Given the description of an element on the screen output the (x, y) to click on. 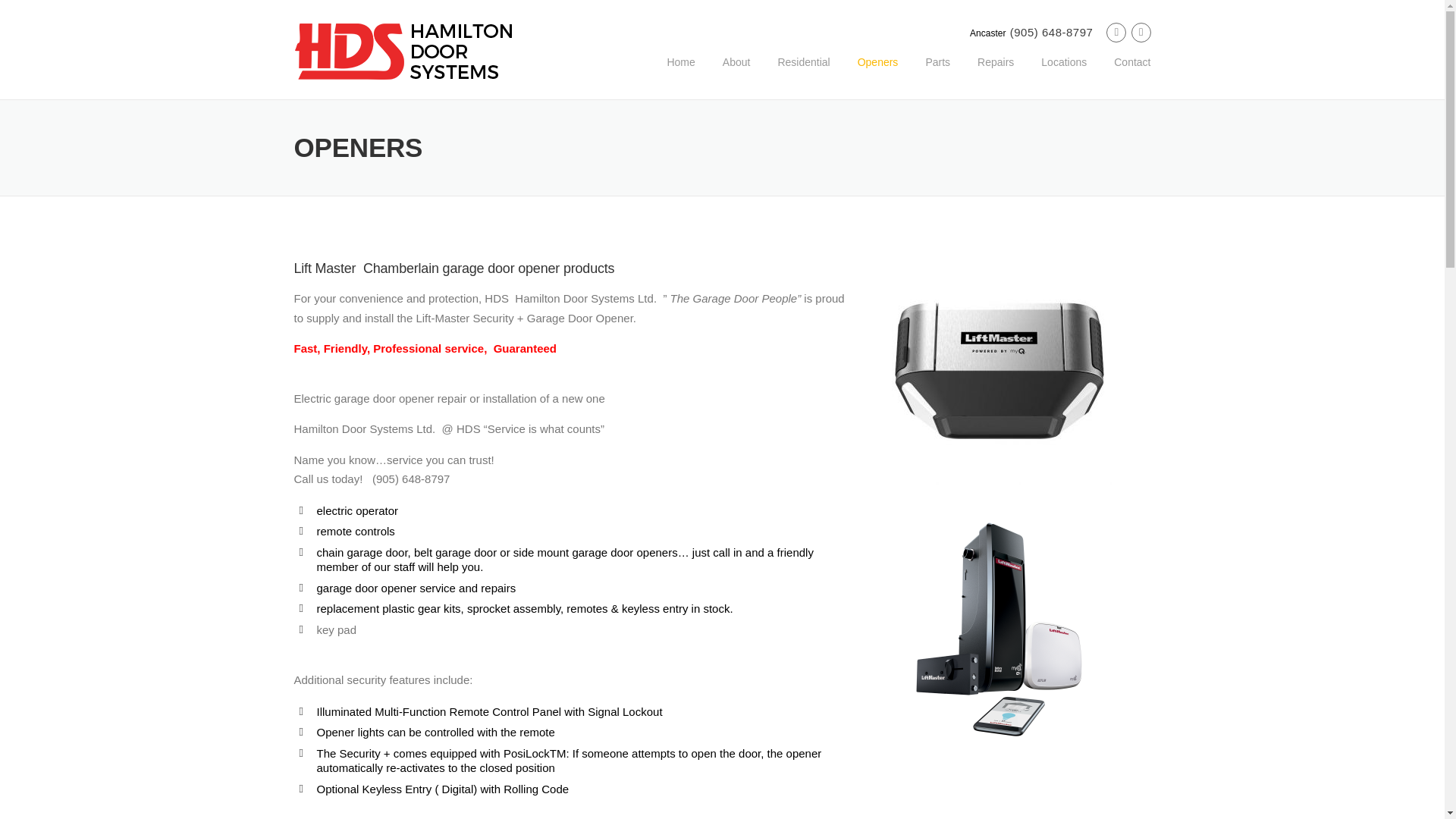
Facebook (1115, 32)
Openers (878, 74)
Contact (1125, 74)
Locations (1063, 74)
Parts (937, 74)
Hamilton Door Systems (403, 50)
Repairs (995, 74)
Email (1141, 32)
Residential (802, 74)
About (736, 74)
